Given the description of an element on the screen output the (x, y) to click on. 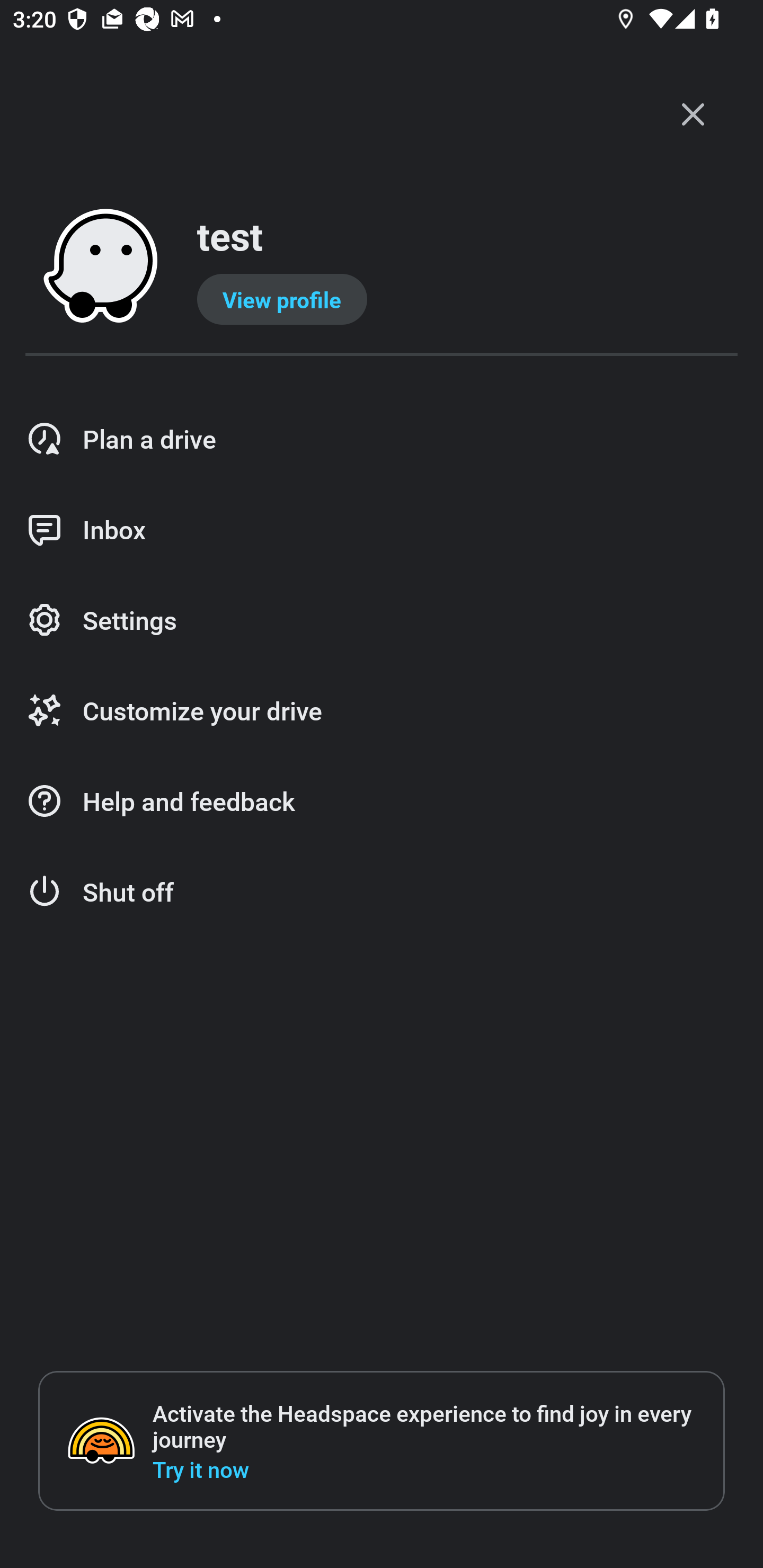
test View profile (381, 266)
View profile (281, 299)
ACTION_CELL_ICON Plan a drive ACTION_CELL_TEXT (381, 438)
ACTION_CELL_ICON Inbox ACTION_CELL_TEXT (381, 529)
ACTION_CELL_ICON Settings ACTION_CELL_TEXT (381, 620)
ACTION_CELL_ICON Shut off ACTION_CELL_TEXT (381, 891)
